Given the description of an element on the screen output the (x, y) to click on. 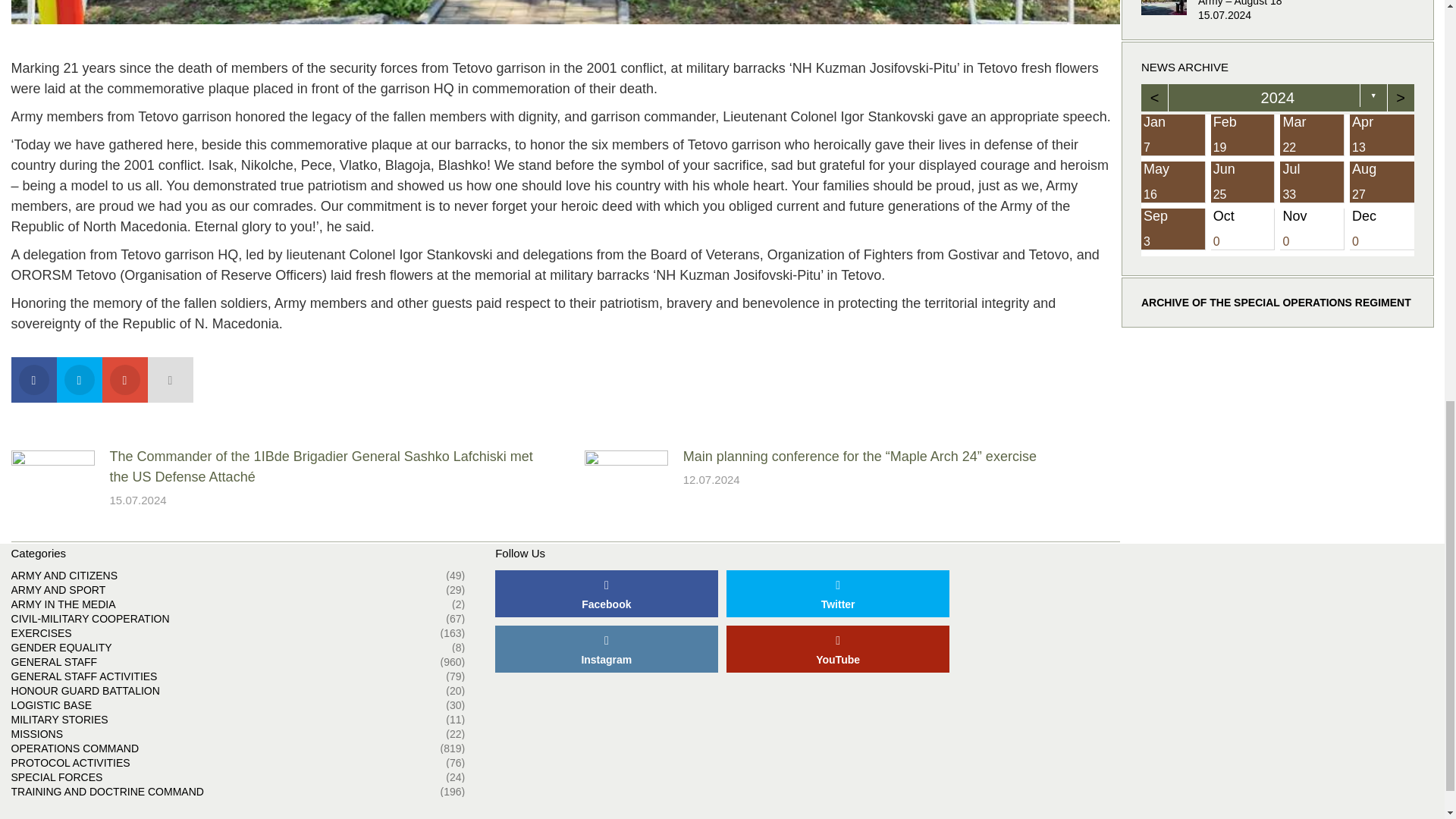
April, 2024 - 13 Posts (1381, 134)
01 (565, 11)
January, 2024 - 7 Posts (1173, 134)
June, 2024 - 25 Posts (1241, 182)
March, 2024 - 22 Posts (1311, 134)
February, 2024 - 19 Posts (1241, 134)
May, 2024 - 16 Posts (1173, 182)
